Given the description of an element on the screen output the (x, y) to click on. 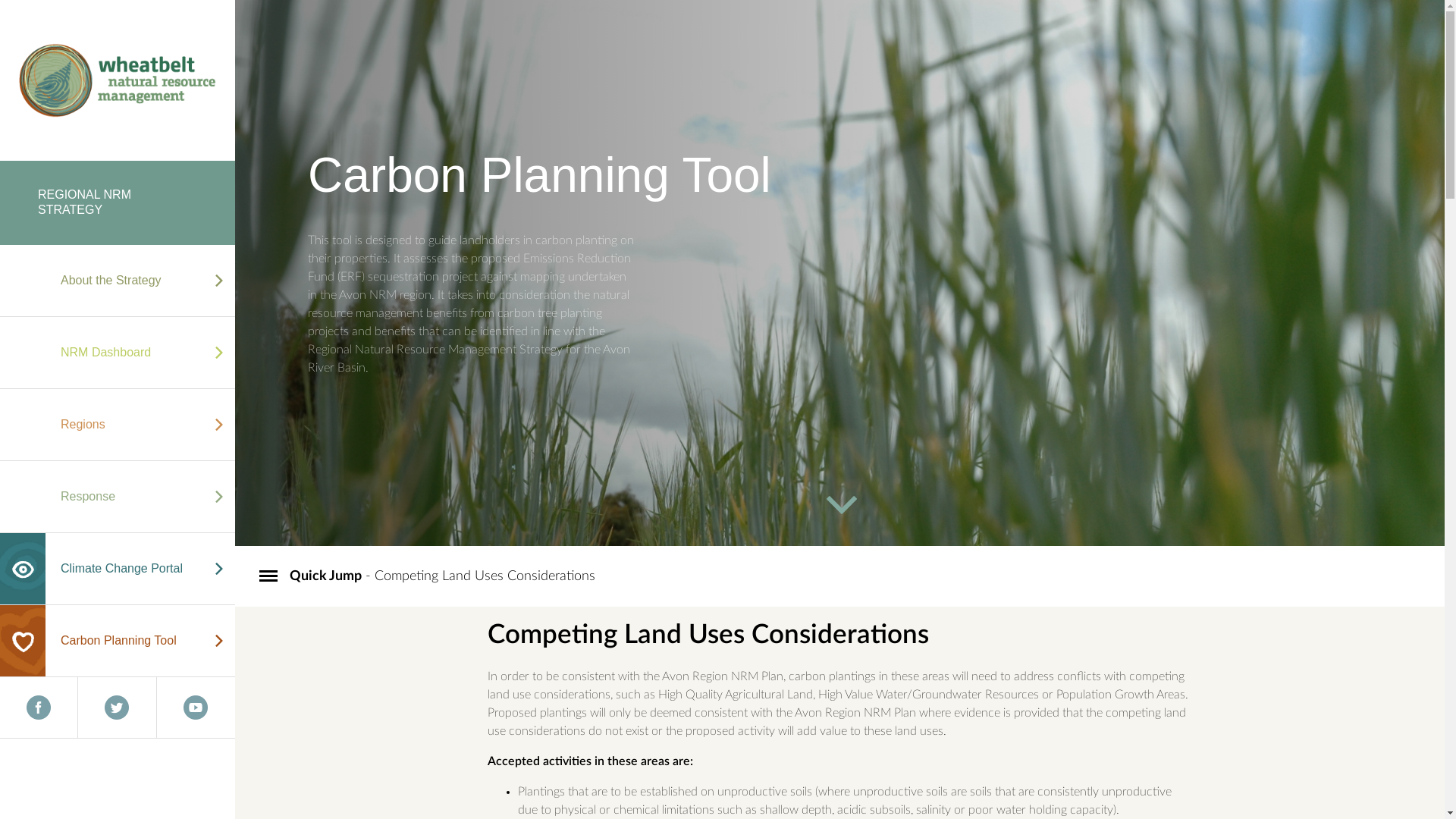
Facebook Element type: text (38, 707)
Carbon Planning Tool Element type: text (117, 640)
Regions Element type: text (117, 424)
NRM Dashboard Element type: text (117, 352)
Twitter Element type: text (116, 707)
Climate Change Portal Element type: text (117, 568)
Response Element type: text (117, 496)
Skip to main content Element type: text (53, 0)
YouTube Element type: text (195, 707)
About the Strategy Element type: text (117, 280)
Home Element type: hover (117, 80)
